Given the description of an element on the screen output the (x, y) to click on. 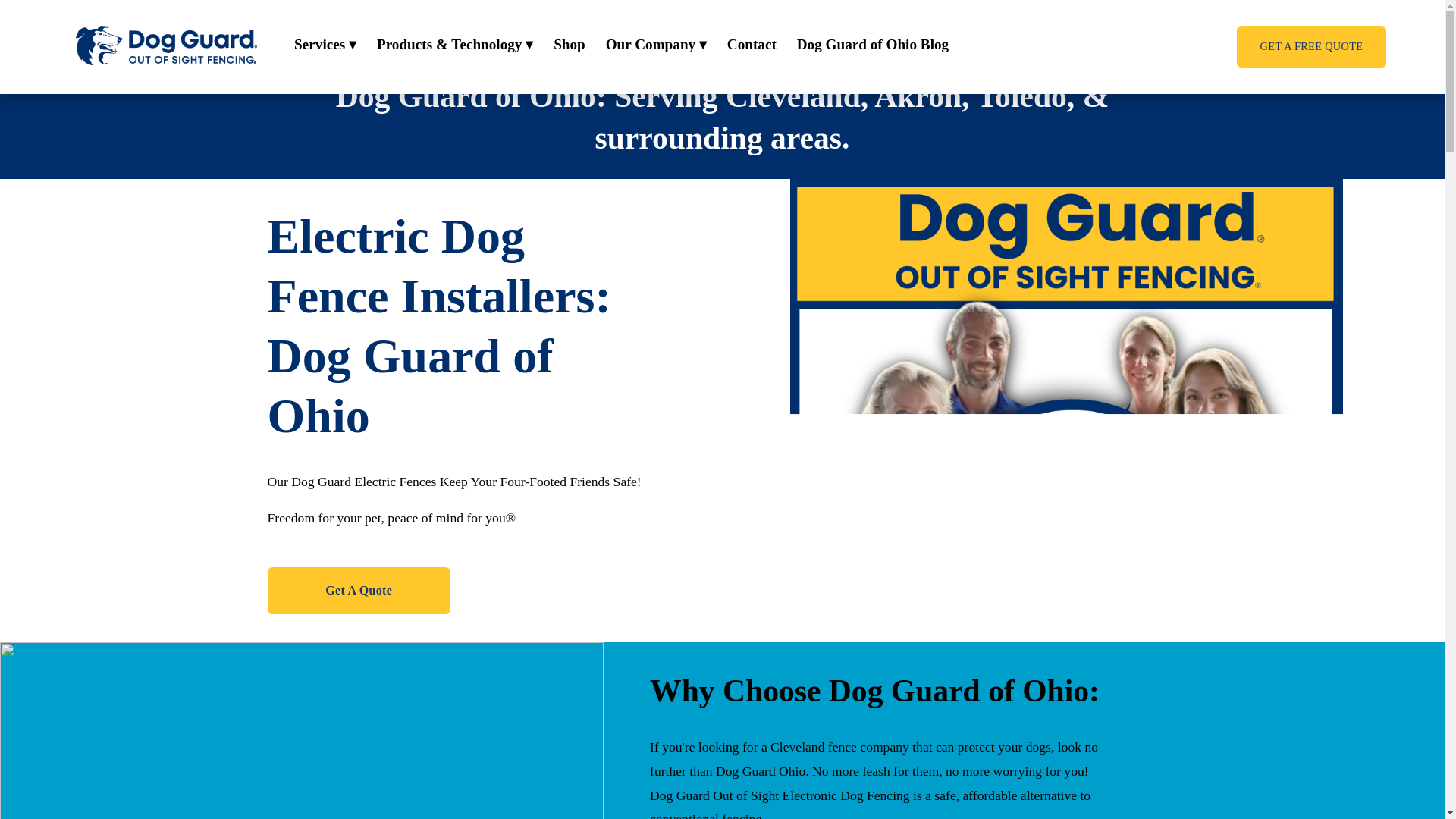
Contact (751, 45)
Shop (569, 45)
Dog Guard of Ohio Blog (872, 45)
Services (325, 45)
Our Company (655, 45)
GET A FREE QUOTE (1311, 46)
